Given the description of an element on the screen output the (x, y) to click on. 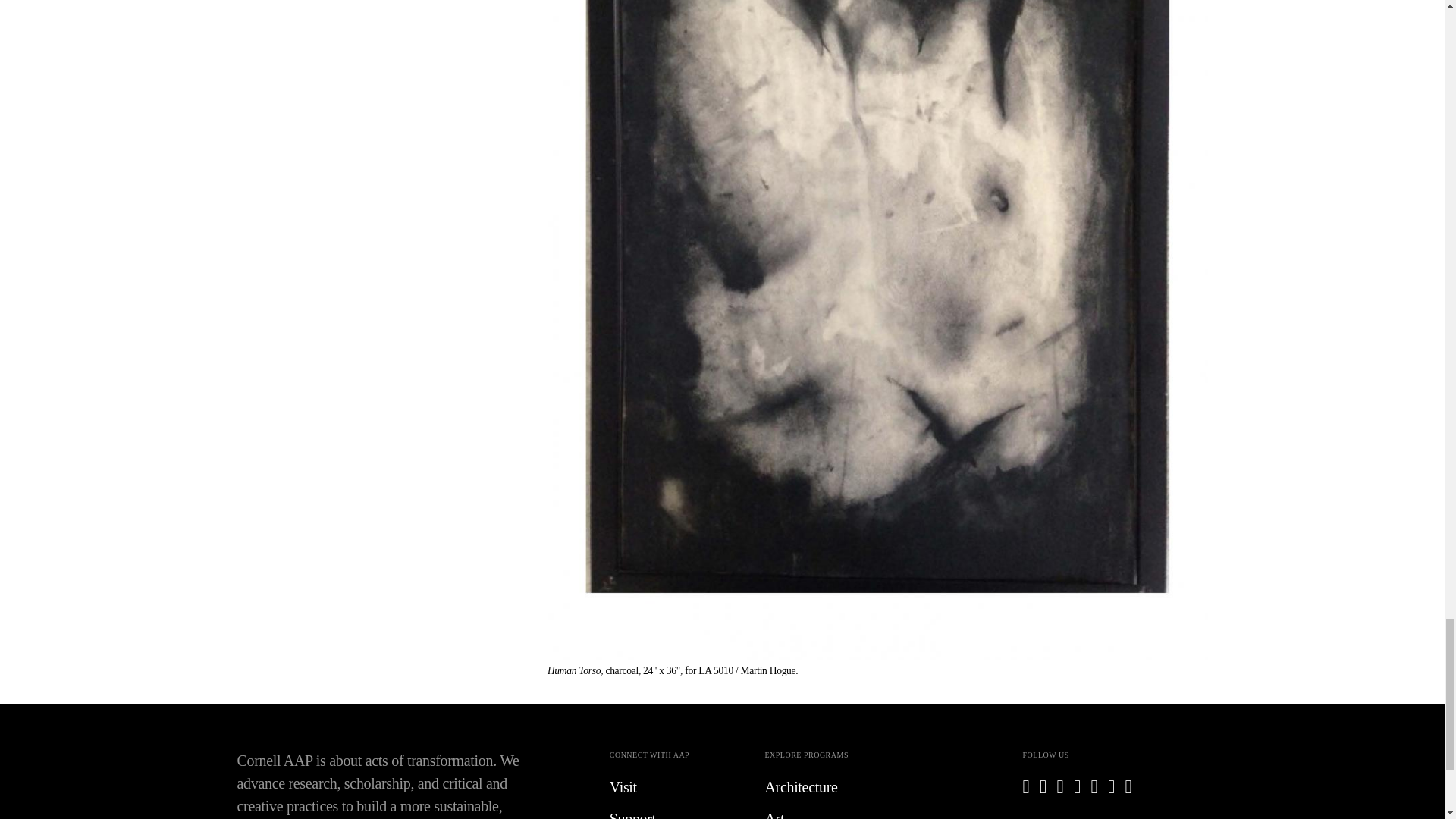
Support (676, 813)
Architecture (830, 786)
Art (830, 813)
Visit (676, 786)
